Given the description of an element on the screen output the (x, y) to click on. 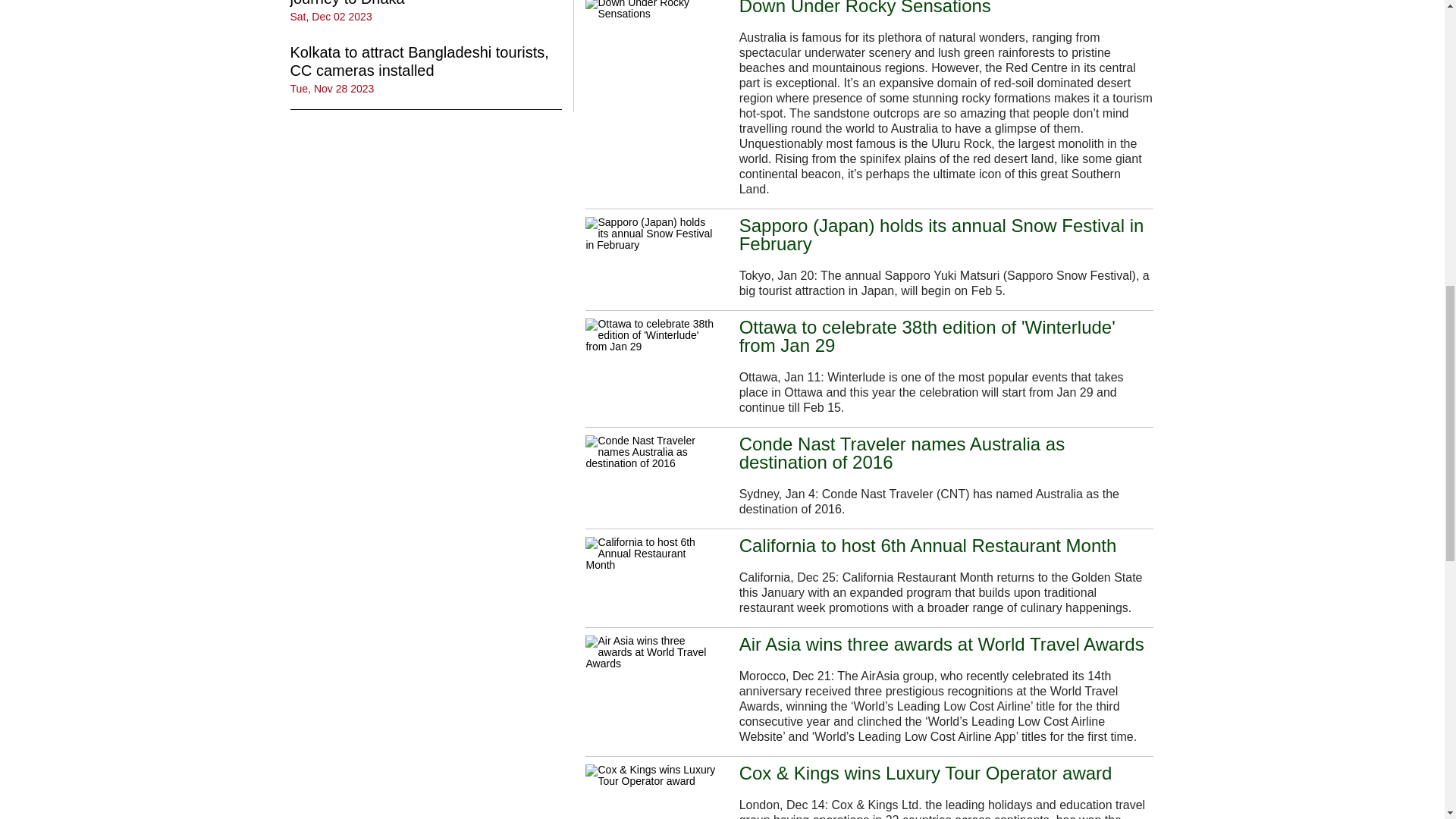
California to host 6th Annual Restaurant Month (927, 546)
Air Asia wins three awards at World Travel Awards (650, 652)
California to host 6th Annual Restaurant Month (650, 553)
Conde Nast Traveler names Australia as destination of 2016 (650, 451)
Conde Nast Traveler names Australia as destination of 2016 (946, 452)
Down Under Rocky Sensations (865, 7)
Down Under Rocky Sensations (650, 9)
Ottawa to celebrate 38th edition of 'Winterlude' from Jan 29 (946, 336)
